Given the description of an element on the screen output the (x, y) to click on. 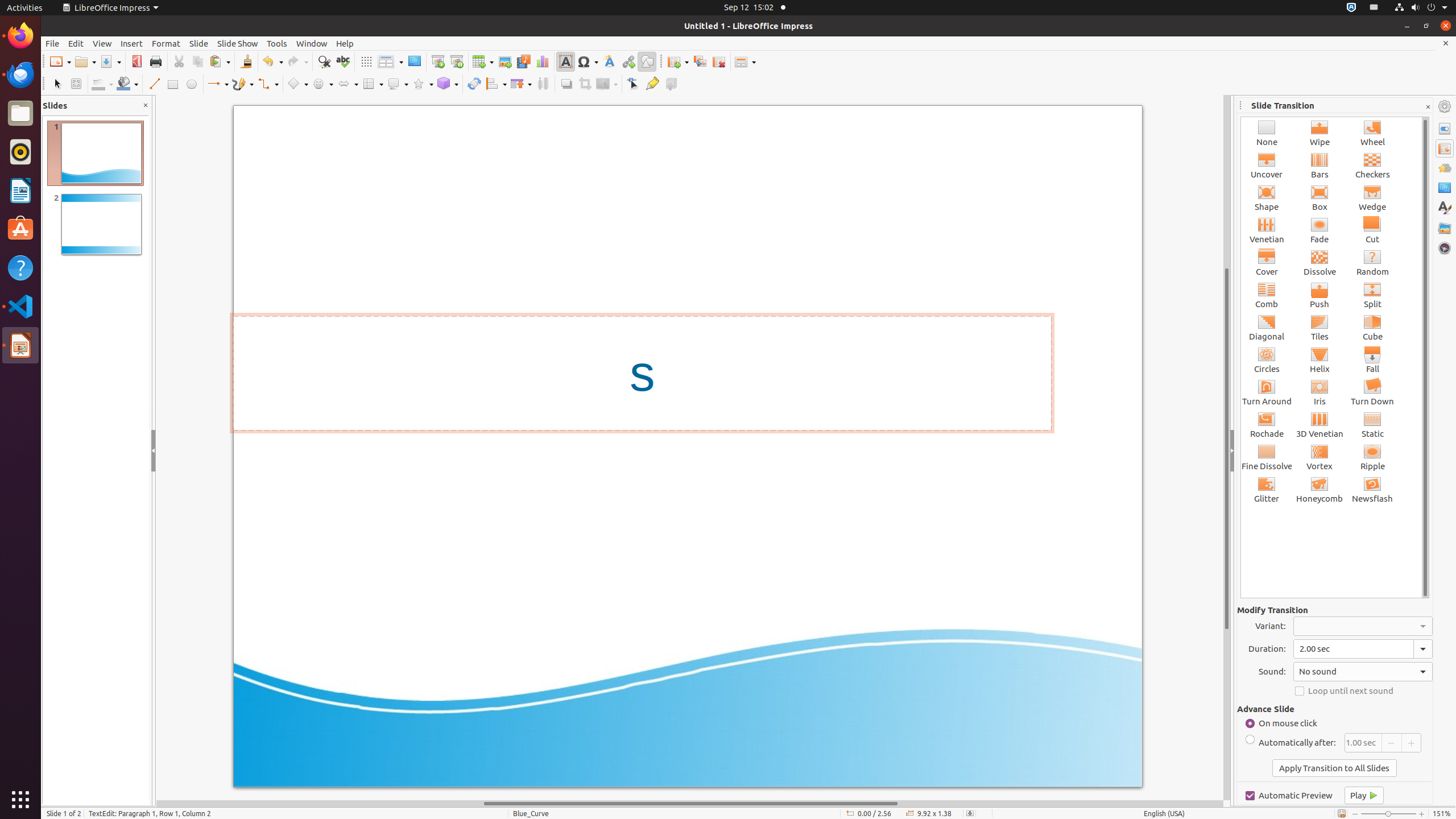
Align Element type: push-button (495, 83)
Iris Element type: list-item (1319, 391)
Line Color Element type: push-button (101, 83)
3D Objects Element type: push-button (447, 83)
Vortex Element type: list-item (1319, 456)
